Given the description of an element on the screen output the (x, y) to click on. 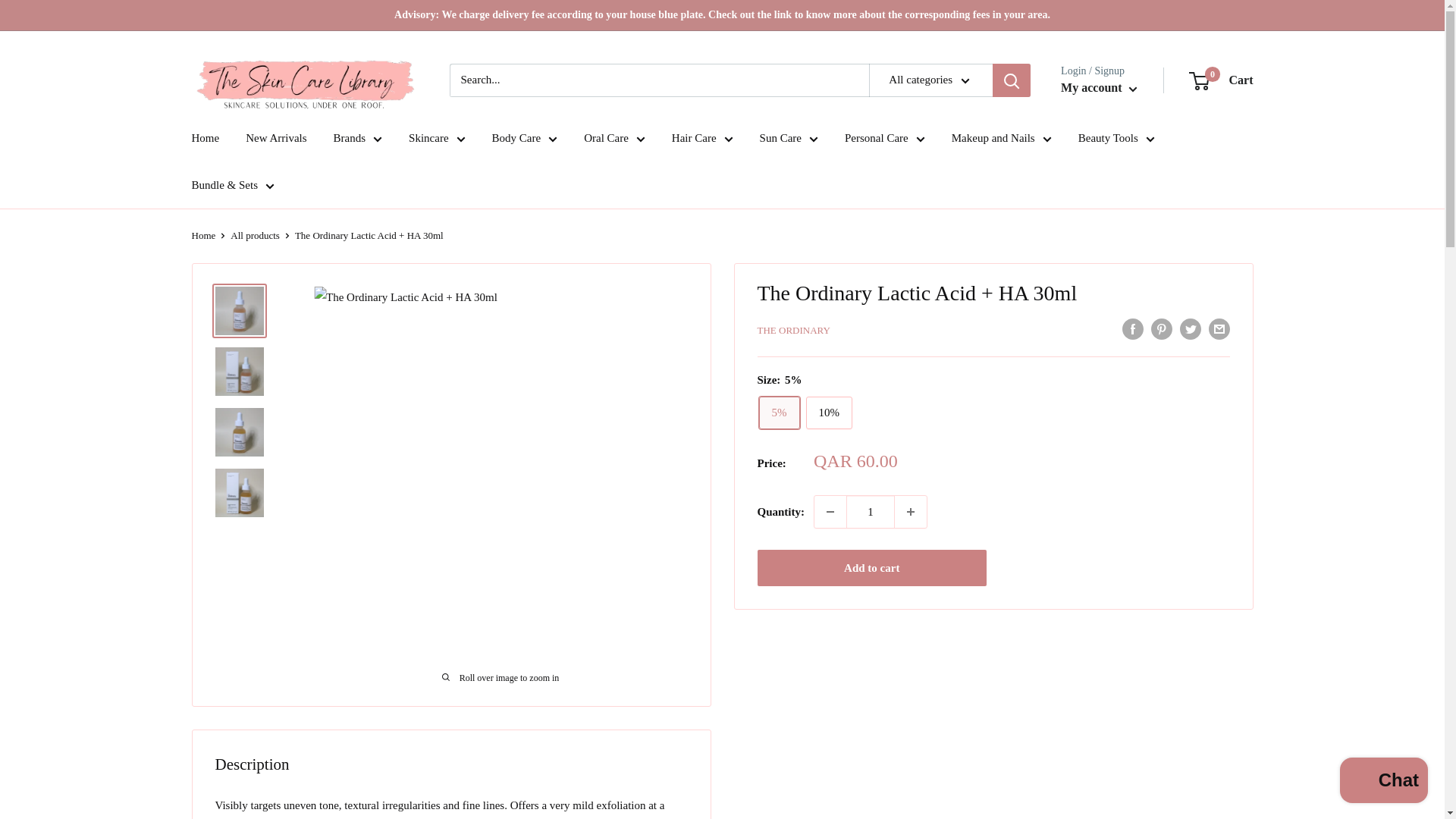
1 (870, 511)
Decrease quantity by 1 (829, 511)
Shopify online store chat (1383, 781)
Increase quantity by 1 (910, 511)
